Given the description of an element on the screen output the (x, y) to click on. 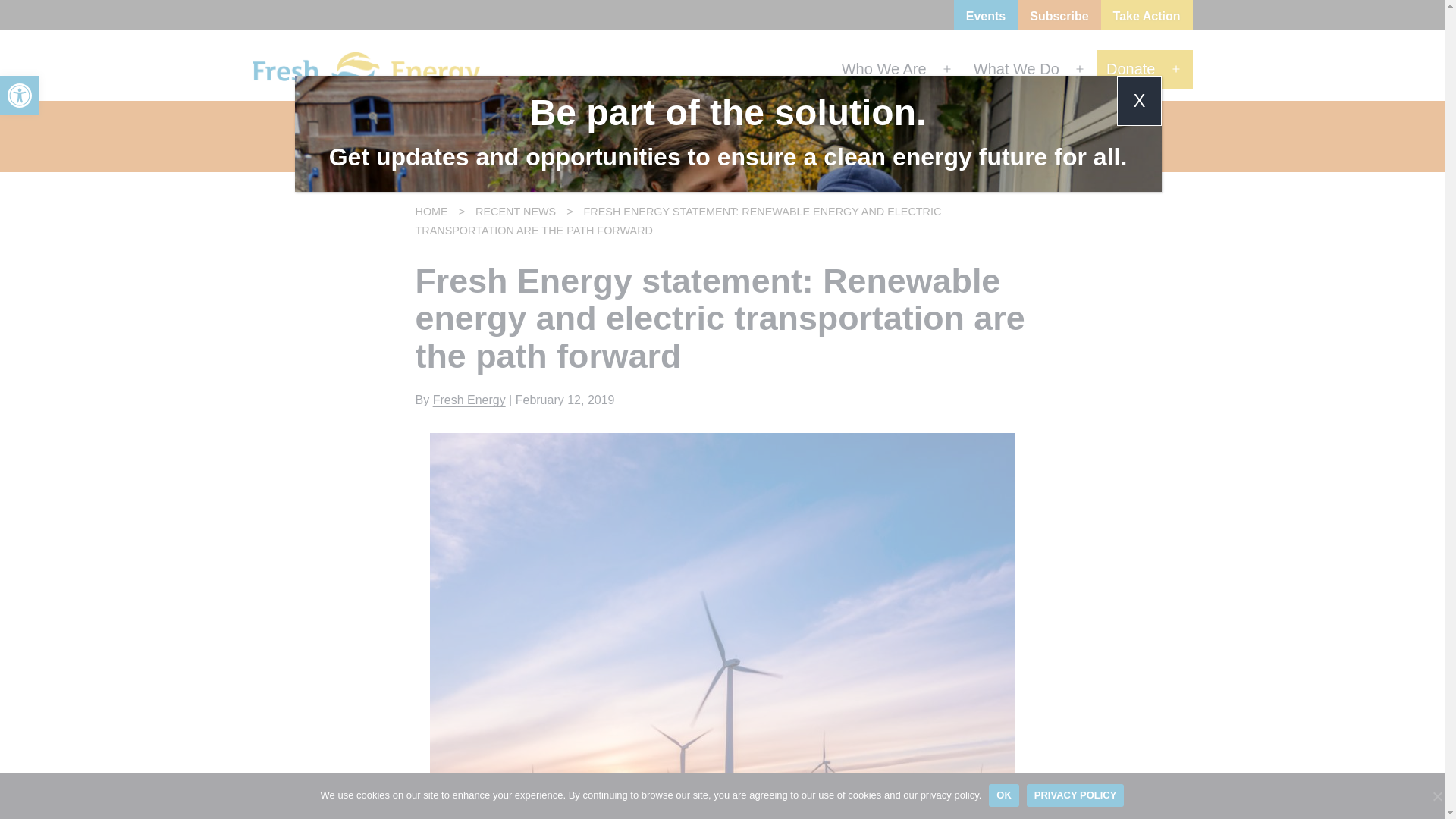
No (1436, 795)
Subscribe (1058, 17)
Go to Fresh Energy. (19, 95)
Take Action (432, 211)
Posts by Fresh Energy (1146, 17)
Accessibility Tools (468, 399)
Events (19, 95)
What We Do (985, 17)
Who We Are (1015, 68)
Donate (883, 68)
Accessibility Tools (1131, 68)
Go to the Recent News category archives. (19, 95)
